Given the description of an element on the screen output the (x, y) to click on. 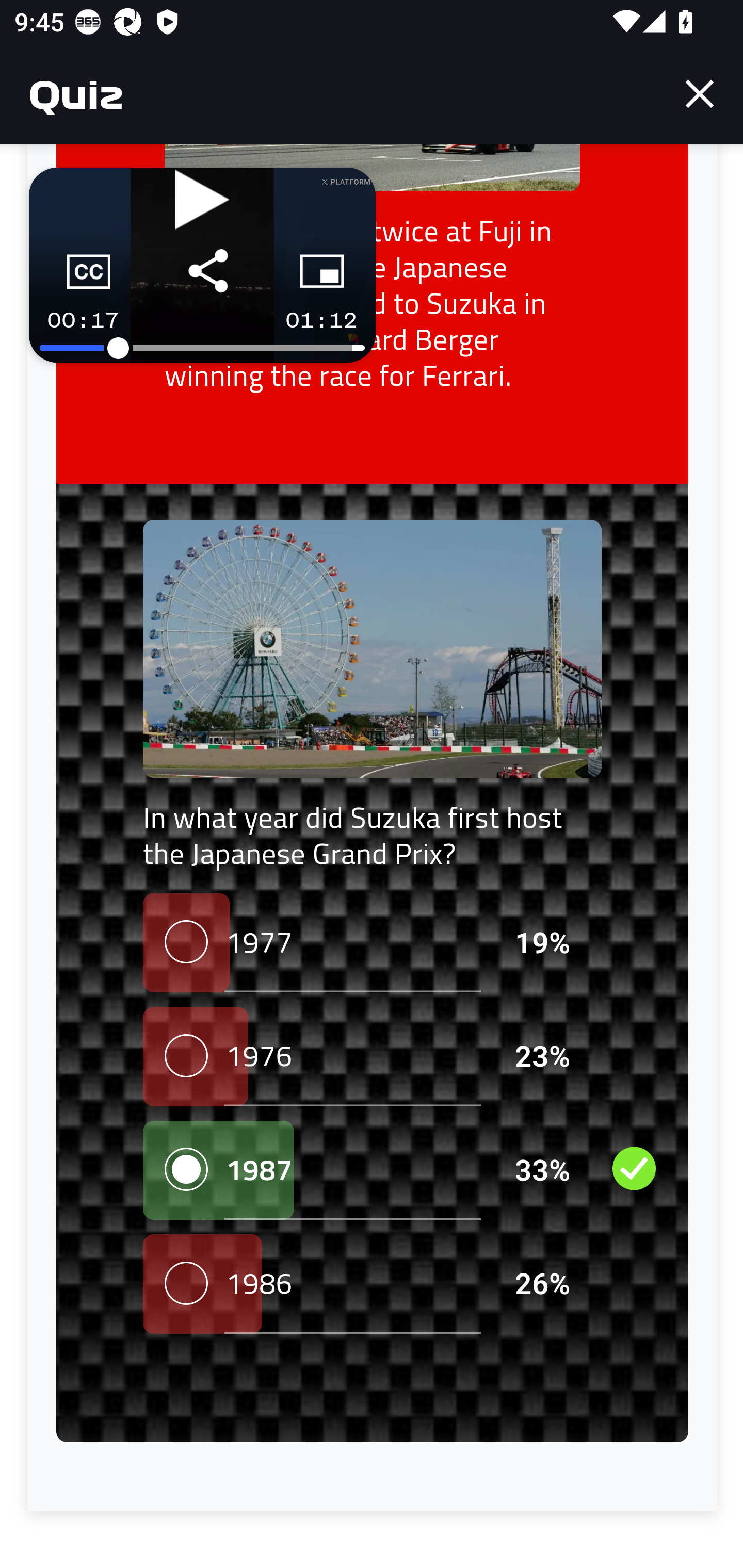
Close (699, 93)
1977 19% (372, 943)
1976 23% (372, 1057)
1987 33%  (372, 1171)
1986 26% (372, 1285)
